Given the description of an element on the screen output the (x, y) to click on. 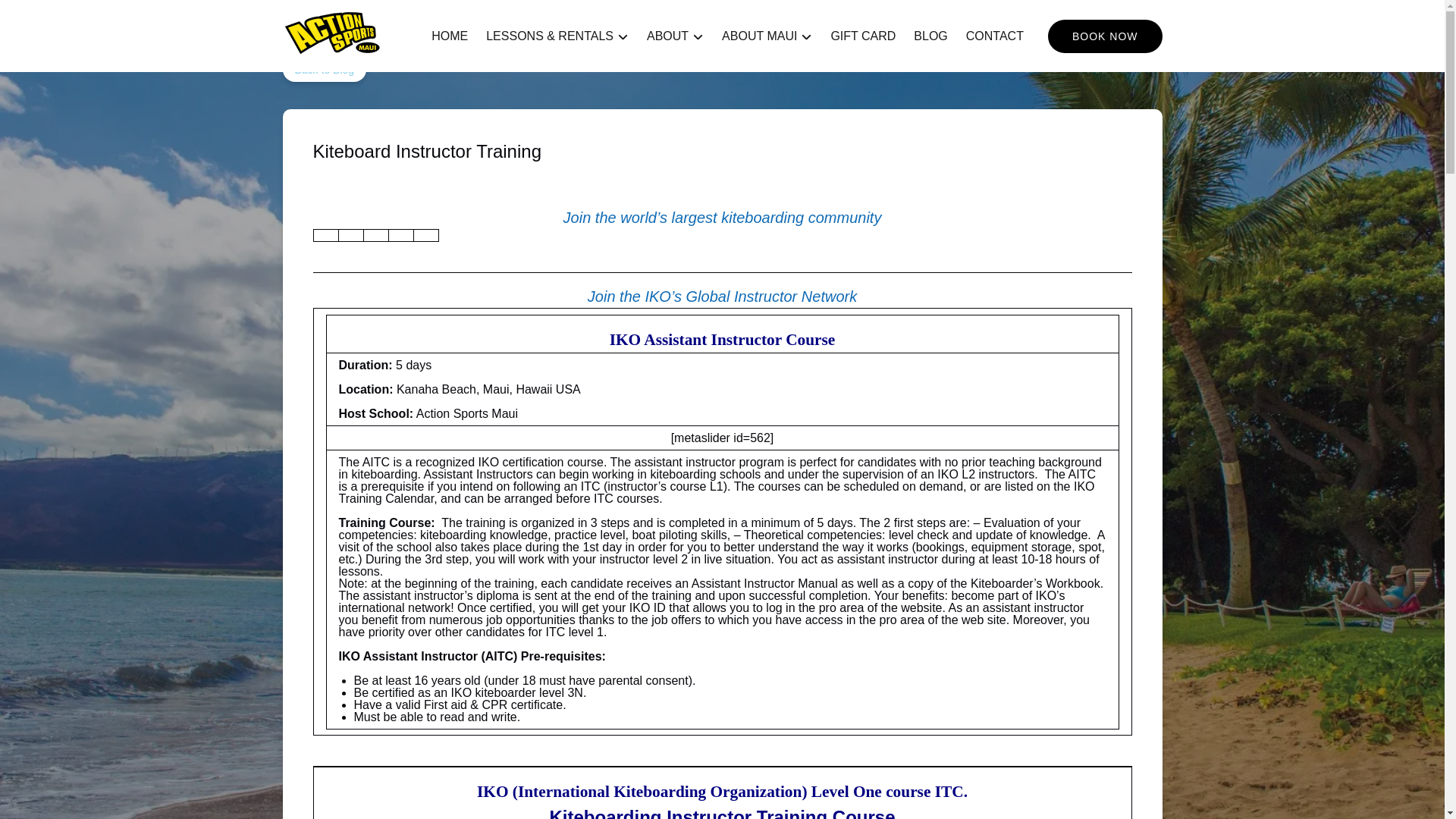
Skip to primary navigation (77, 16)
Skip to footer (42, 16)
ABOUT MAUI (767, 35)
GIFT CARD (862, 35)
Open About Menu (679, 32)
BLOG (930, 35)
CONTACT (994, 35)
HOME (449, 35)
Skip to content (47, 16)
ABOUT (675, 35)
